Given the description of an element on the screen output the (x, y) to click on. 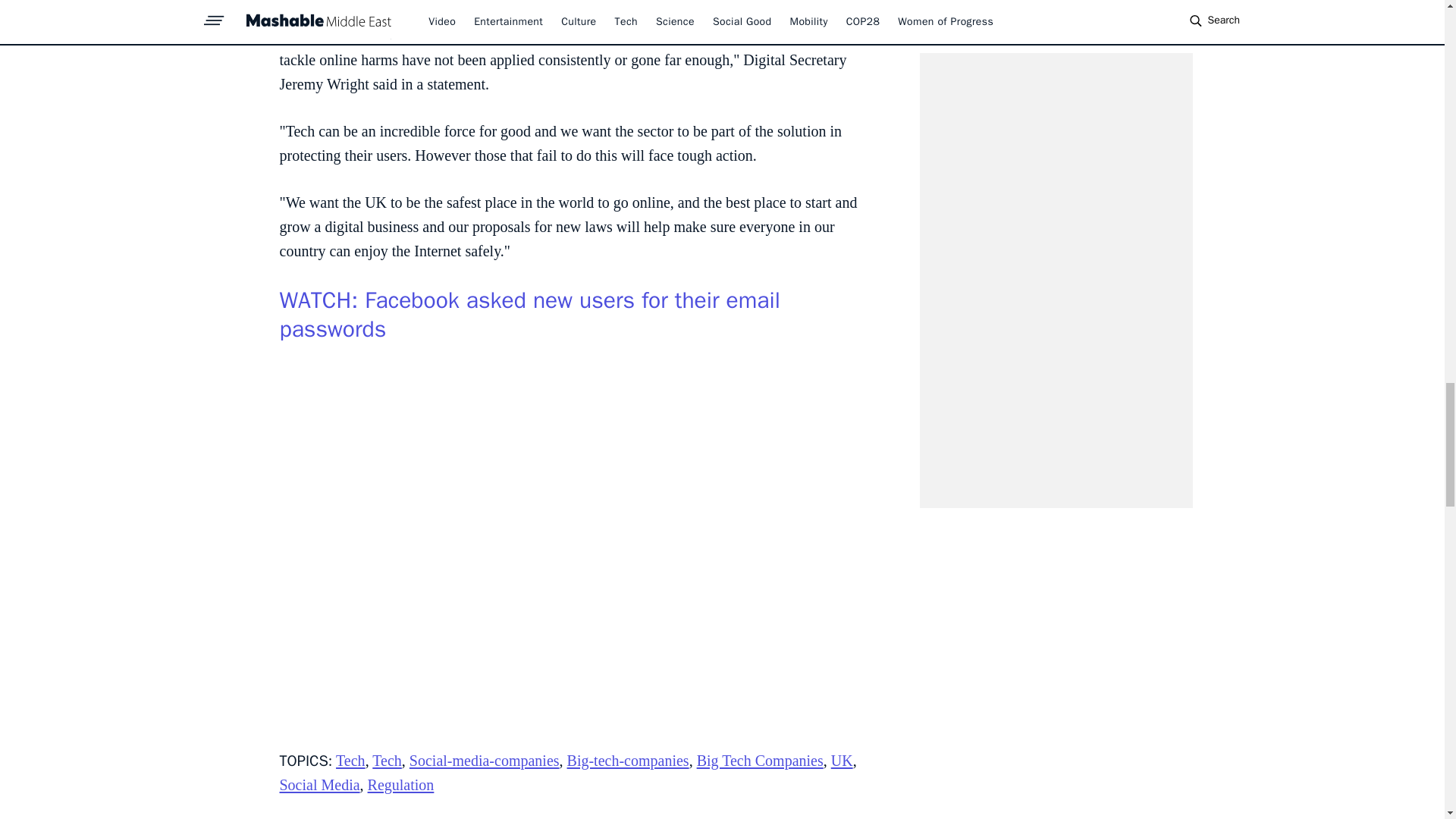
WATCH: Facebook asked new users for their email passwords (528, 314)
Social Media (319, 784)
Social-media-companies (484, 760)
Tech (350, 760)
Big Tech Companies (760, 760)
Big-tech-companies (627, 760)
UK (842, 760)
Tech (386, 760)
